Given the description of an element on the screen output the (x, y) to click on. 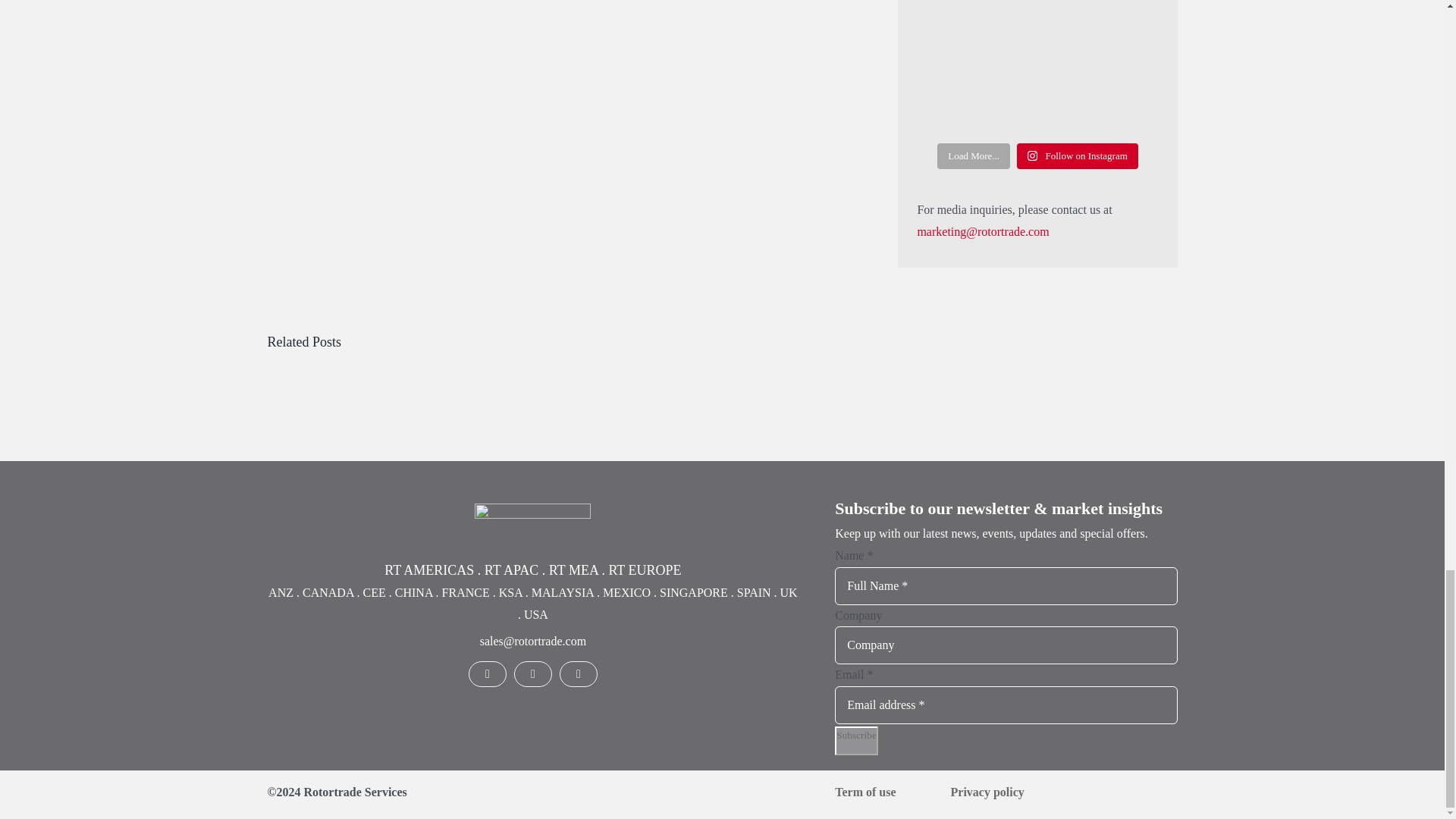
Instagram (532, 673)
Facebook (577, 673)
LinkedIn (487, 673)
